Given the description of an element on the screen output the (x, y) to click on. 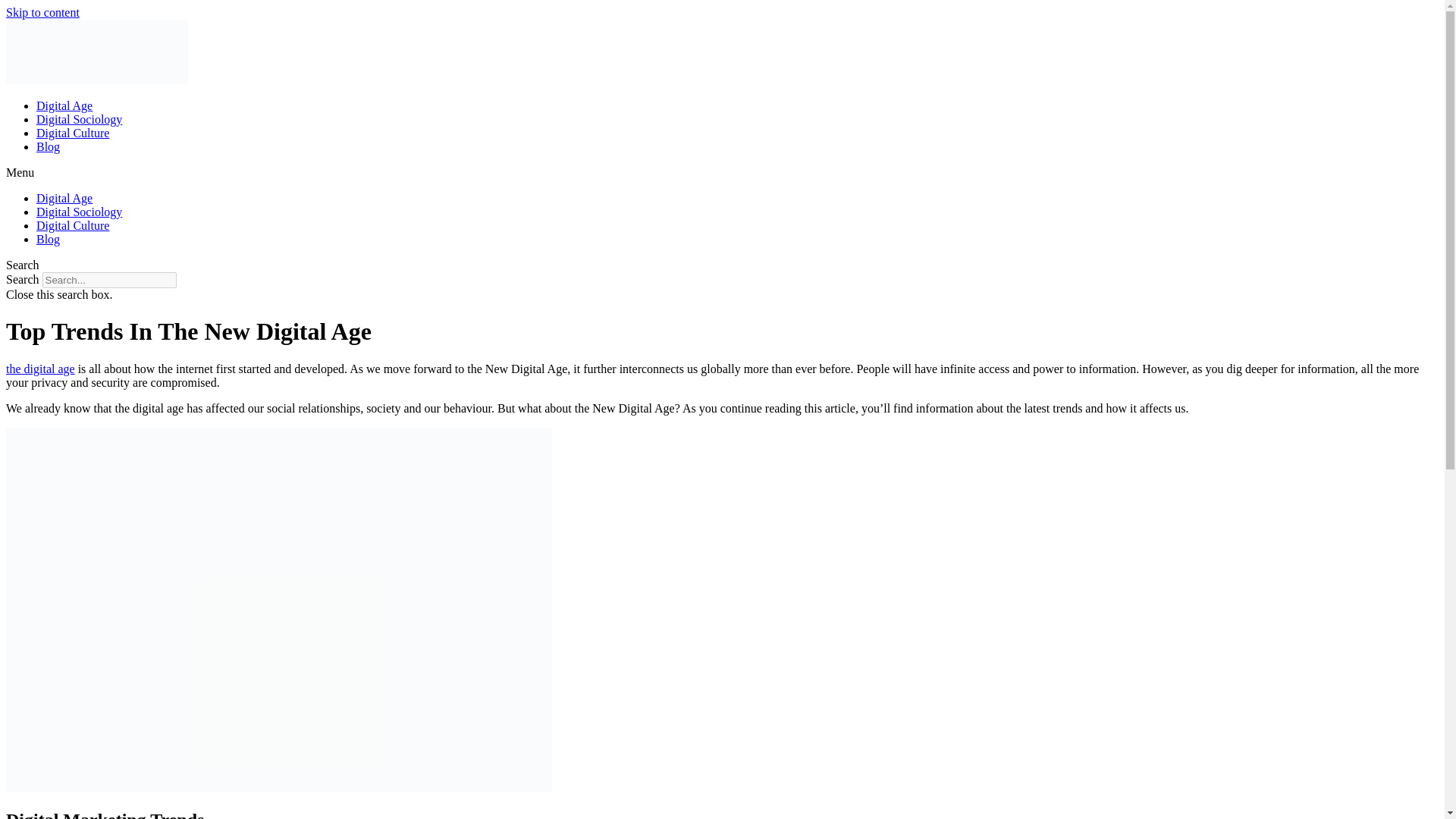
Blog (47, 146)
the digital age (40, 368)
Digital Sociology (79, 119)
Skip to content (42, 11)
Digital Culture (72, 225)
Digital Age (64, 197)
Digital Age (64, 105)
Digital Sociology (79, 211)
Blog (47, 238)
Digital Culture (72, 132)
